Given the description of an element on the screen output the (x, y) to click on. 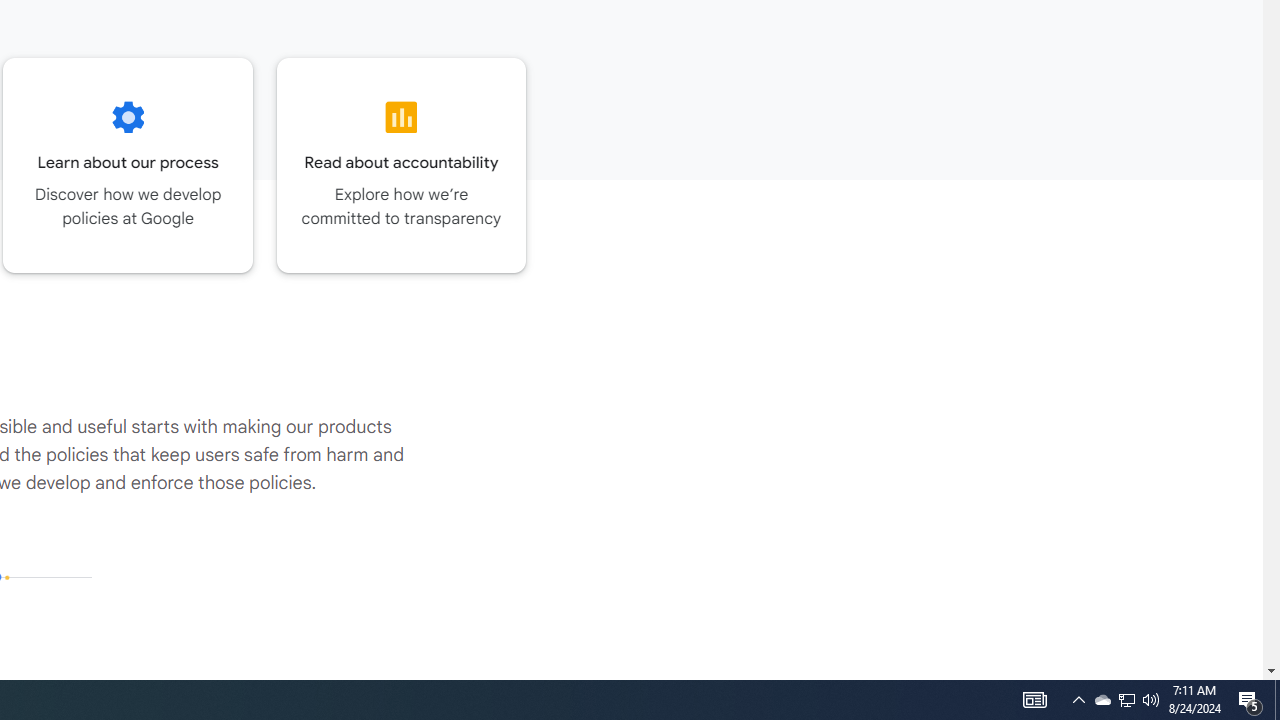
Go to the Accountability page (401, 165)
Go to the Our process page (127, 165)
